Given the description of an element on the screen output the (x, y) to click on. 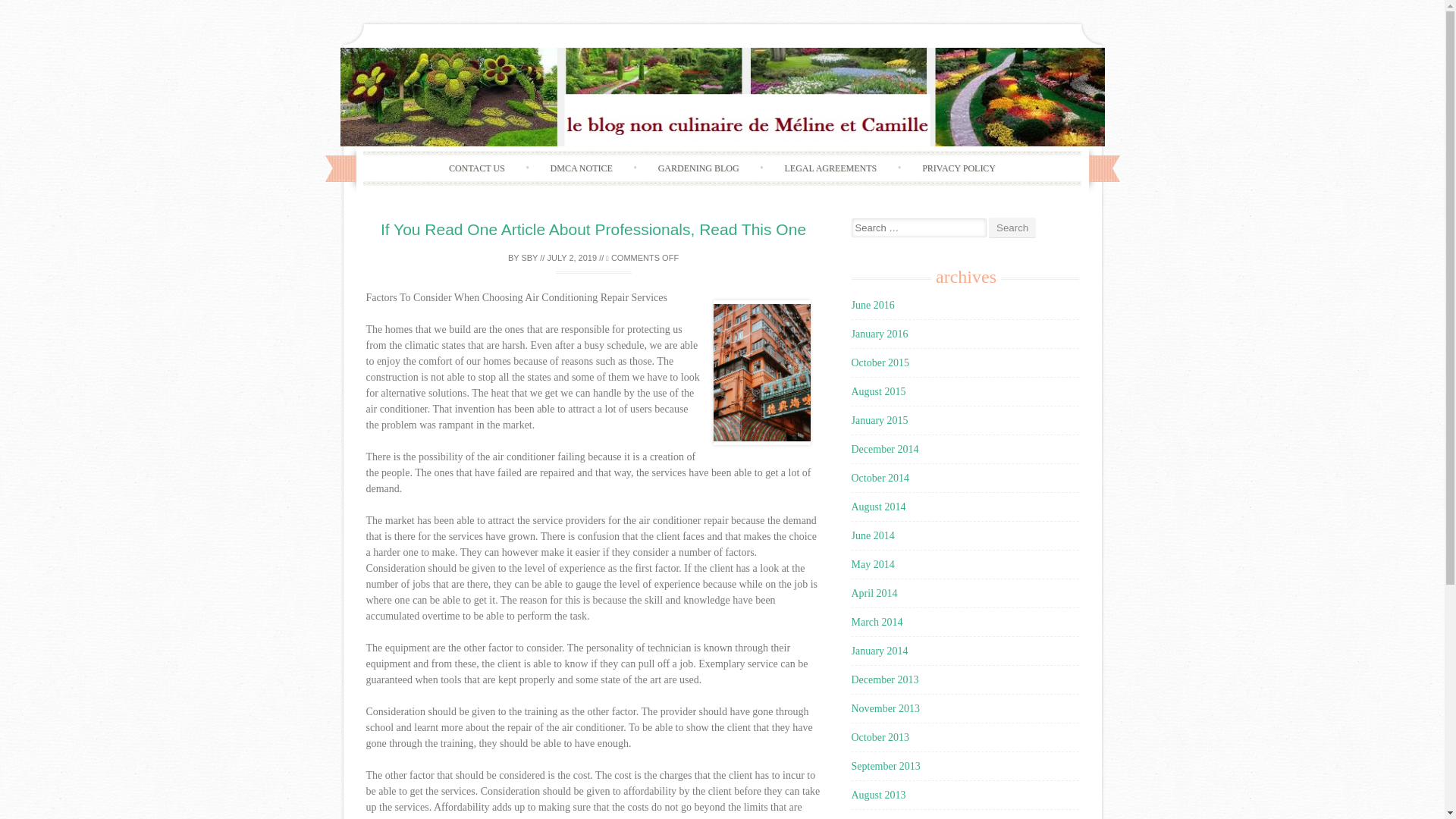
August 2015 (877, 391)
October 2013 (879, 737)
May 2014 (871, 564)
September 2013 (885, 766)
March 2014 (876, 622)
Search (1011, 227)
June 2014 (871, 535)
June 2016 (871, 305)
August 2013 (877, 794)
If You Read One Article About Professionals, Read This One (593, 229)
GARDENING BLOG (698, 167)
July 2013 (871, 818)
LEGAL AGREEMENTS (830, 167)
December 2014 (884, 449)
August 2014 (877, 506)
